Given the description of an element on the screen output the (x, y) to click on. 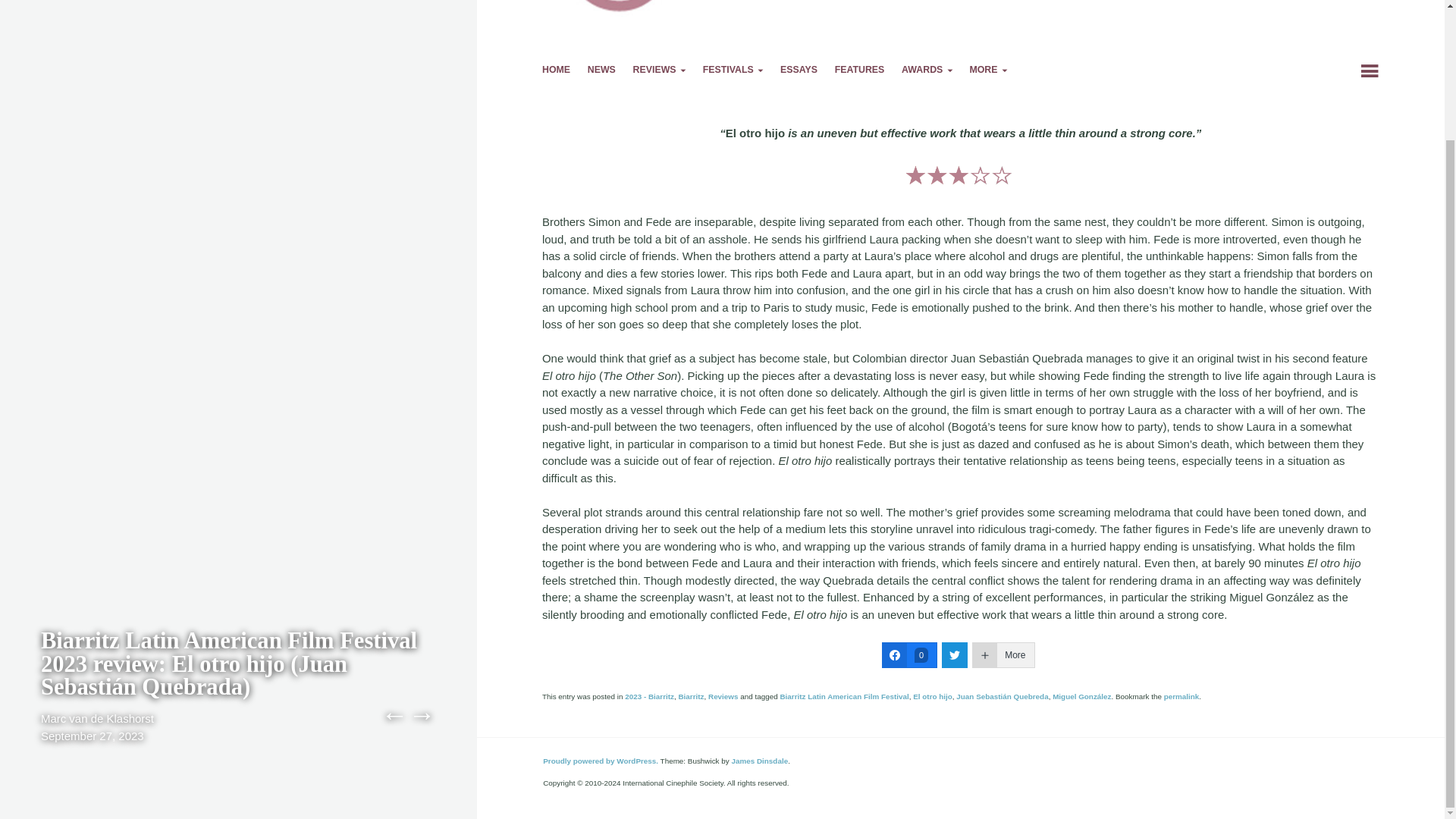
Skip to content (582, 70)
FESTIVALS (732, 72)
HOME (555, 72)
Marc van de Klashorst (97, 559)
View all posts by Marc van de Klashorst (97, 559)
REVIEWS (659, 72)
September 27, 2023 (92, 576)
Skip to content (582, 70)
A Semantic Personal Publishing Platform (600, 760)
10:12 (92, 576)
NEWS (601, 72)
